Given the description of an element on the screen output the (x, y) to click on. 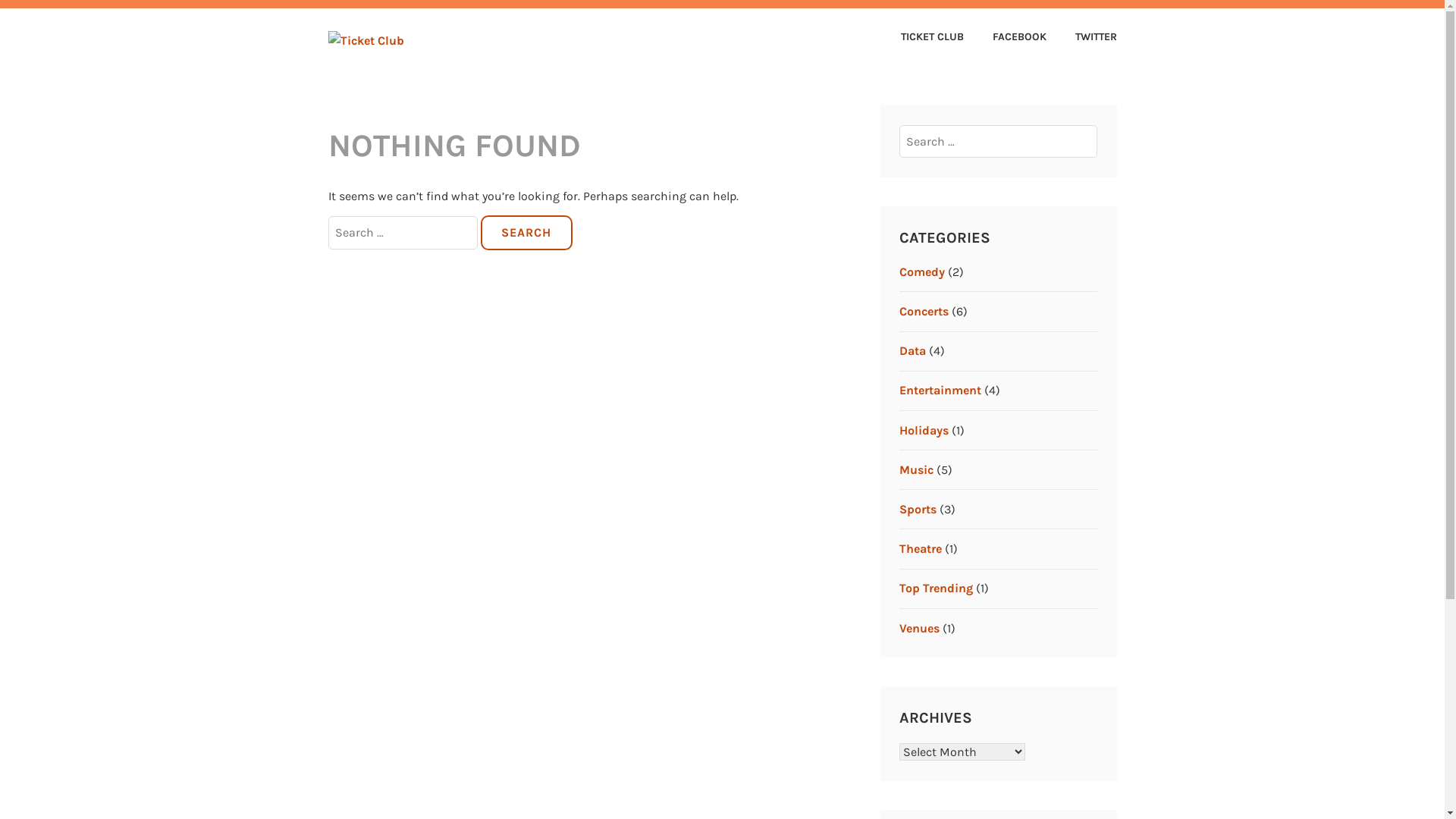
Theatre Element type: text (920, 548)
Search Element type: text (526, 232)
Entertainment Element type: text (940, 389)
Data Element type: text (912, 350)
Music Element type: text (916, 469)
TICKET CLUB Element type: text (508, 43)
Comedy Element type: text (921, 271)
TICKET CLUB Element type: text (919, 37)
TWITTER Element type: text (1083, 37)
Holidays Element type: text (923, 430)
Top Trending Element type: text (935, 587)
Search Element type: text (45, 17)
Concerts Element type: text (923, 311)
Venues Element type: text (919, 628)
FACEBOOK Element type: text (1006, 37)
Sports Element type: text (917, 509)
